Given the description of an element on the screen output the (x, y) to click on. 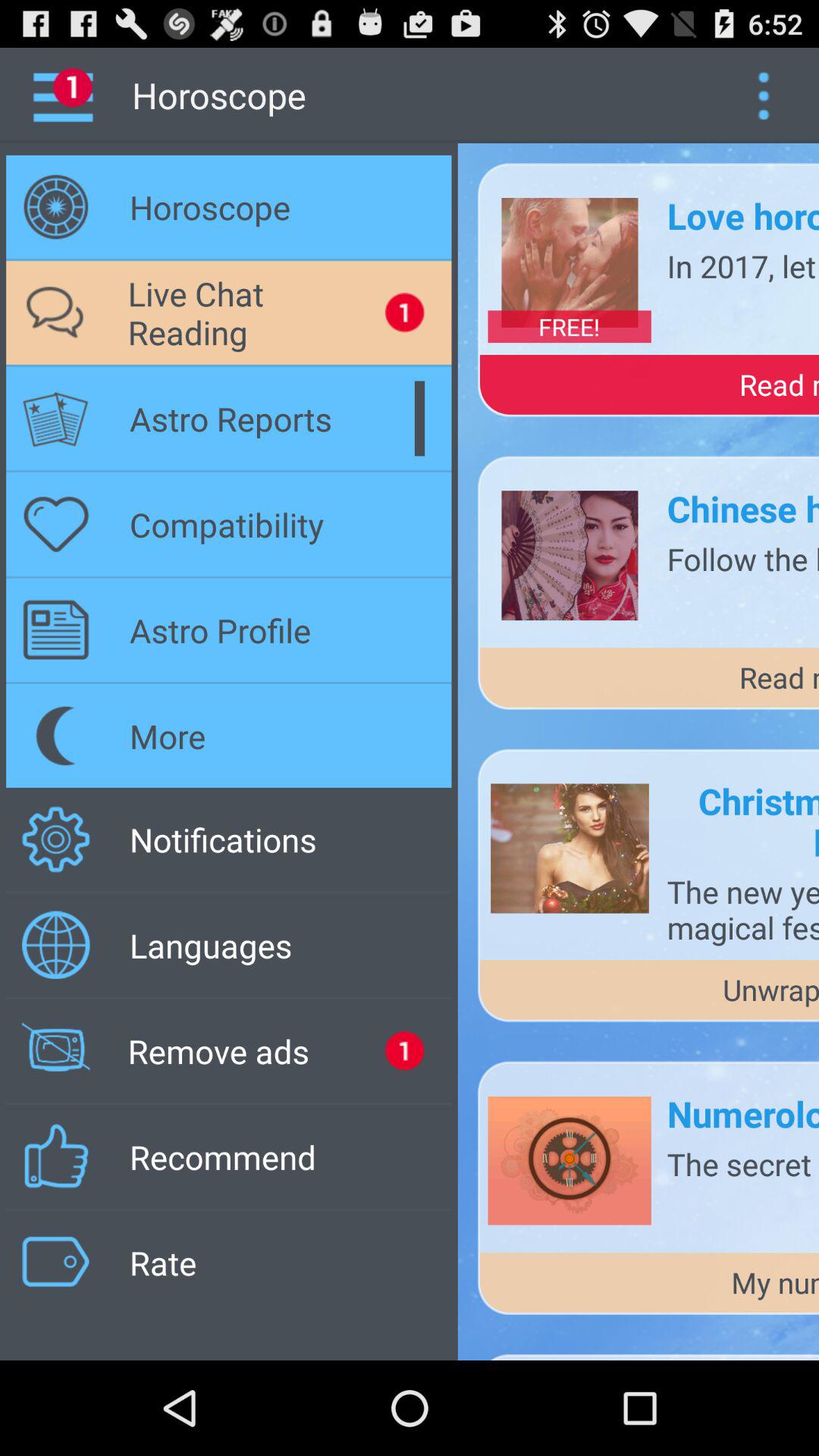
show the menu (763, 95)
